Given the description of an element on the screen output the (x, y) to click on. 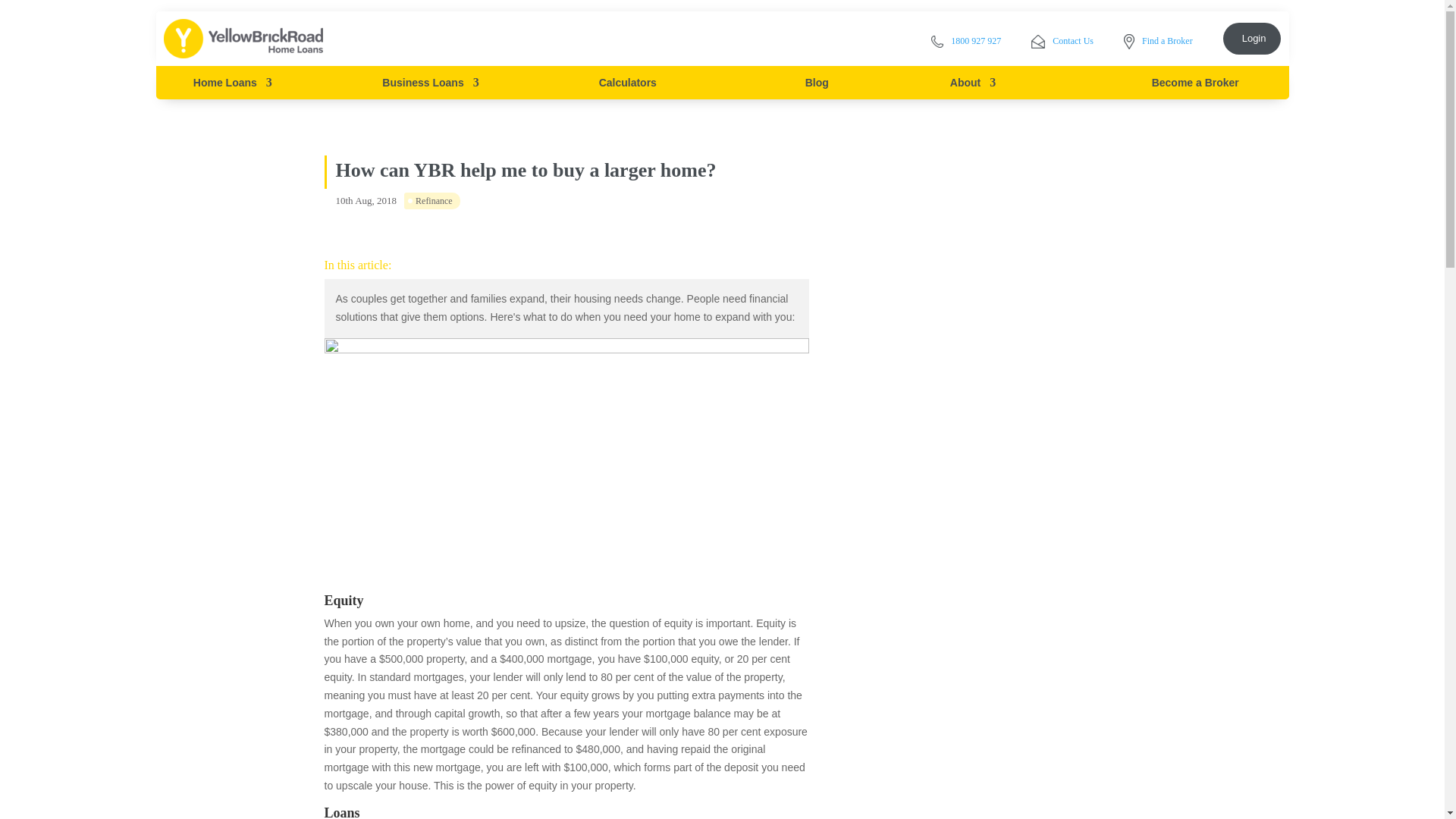
1800 927 927 (966, 39)
Home Loans (232, 82)
Contact Us (1061, 39)
Login (1252, 38)
Find a Broker (1158, 39)
